Given the description of an element on the screen output the (x, y) to click on. 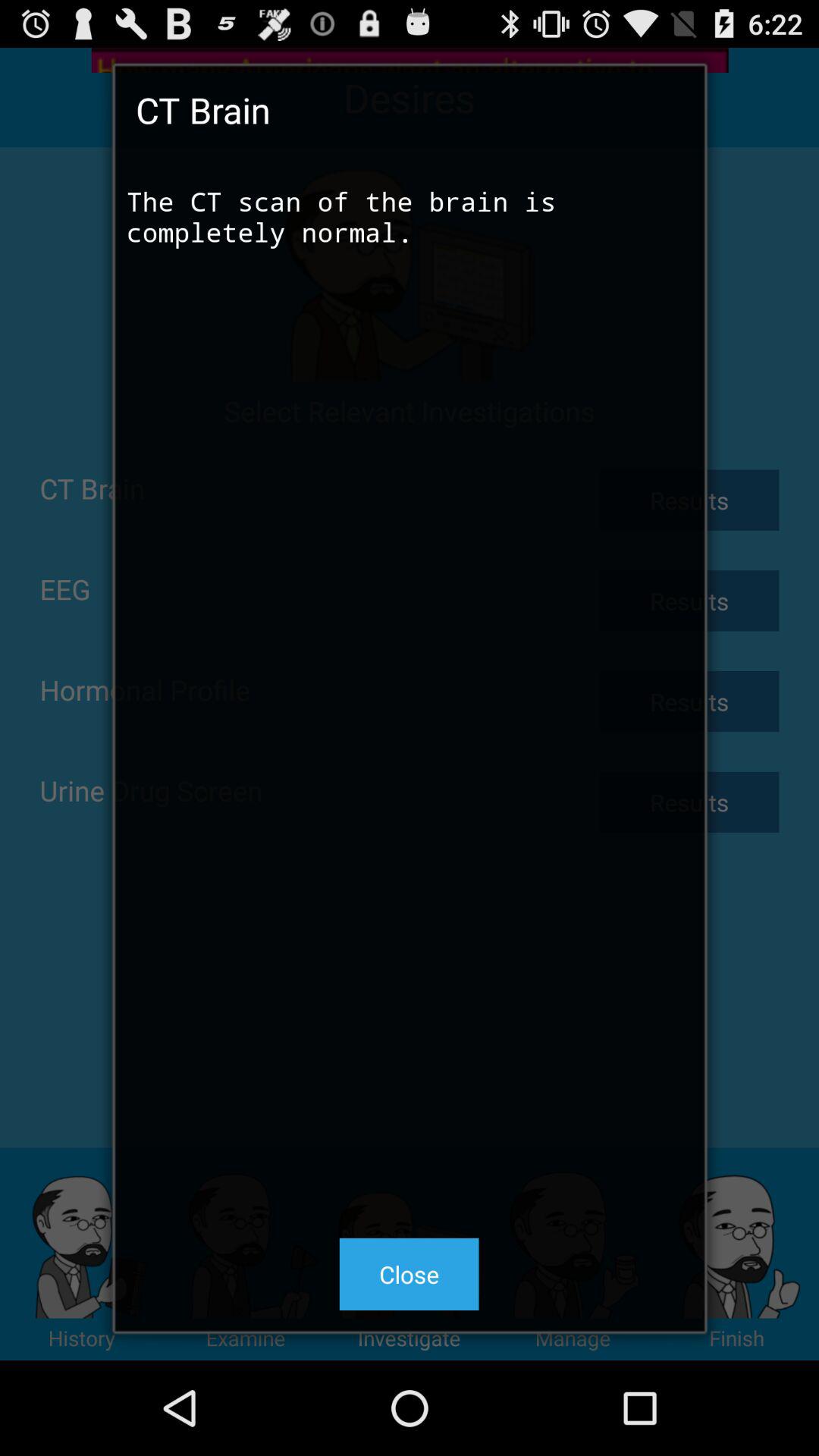
press the icon below the the ct scan icon (408, 1274)
